Given the description of an element on the screen output the (x, y) to click on. 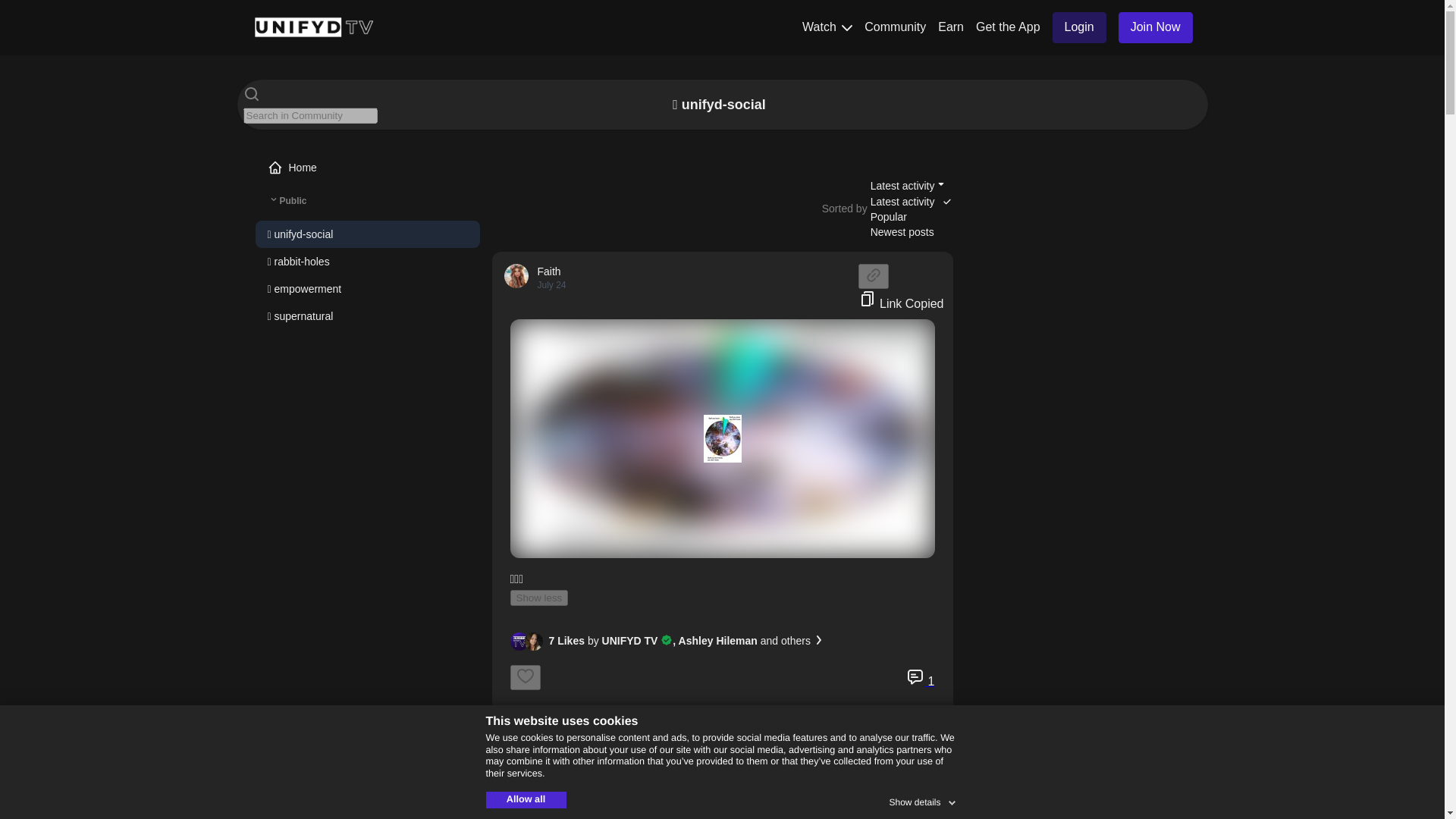
Show details (923, 799)
Allow all (525, 799)
